Given the description of an element on the screen output the (x, y) to click on. 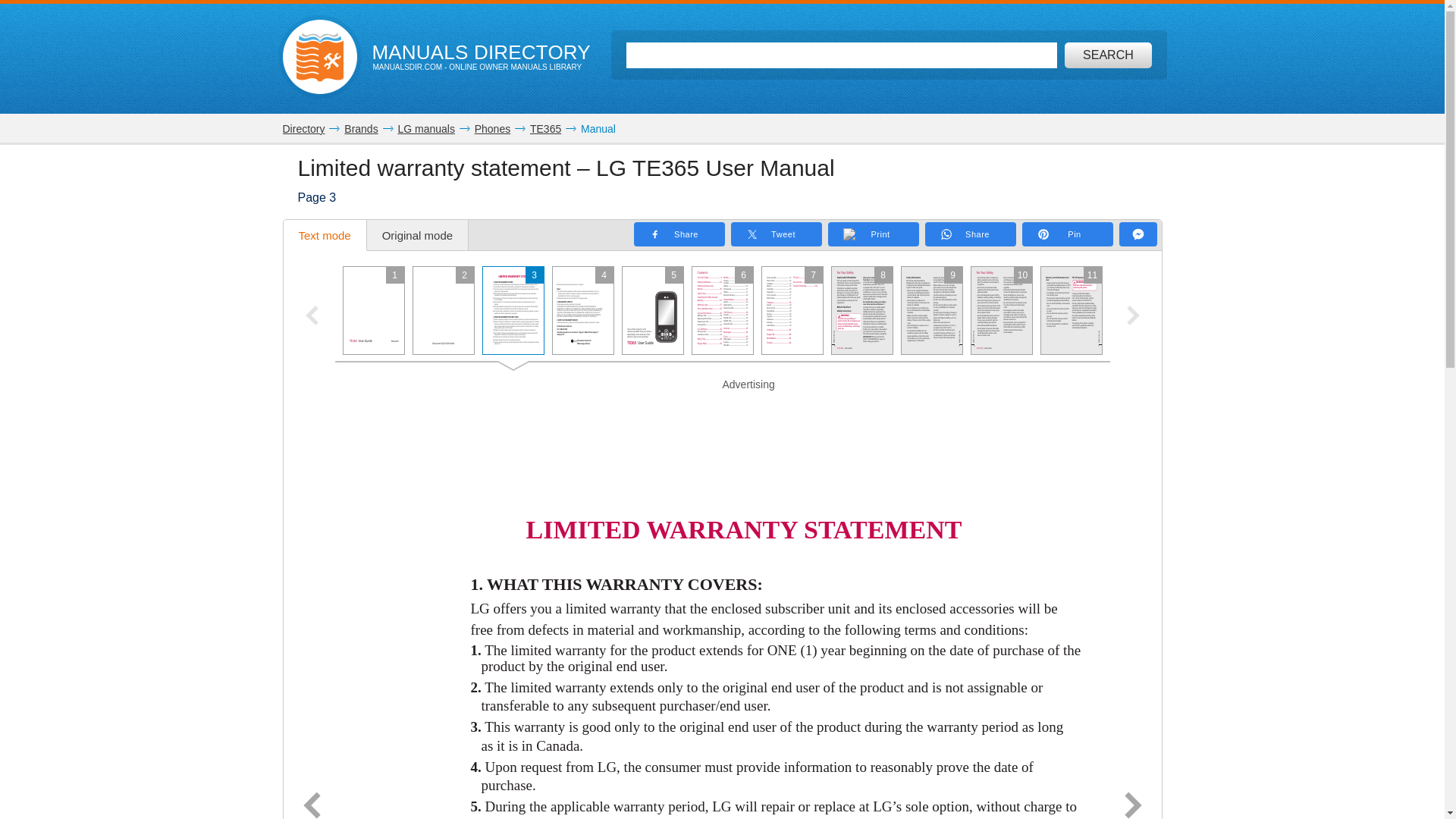
Directory (303, 128)
Brands (360, 128)
TE365 (544, 128)
Text mode (324, 235)
Advertisement (722, 411)
Phones (492, 128)
Original mode (417, 235)
SEARCH (1107, 54)
LG manuals (425, 128)
